Given the description of an element on the screen output the (x, y) to click on. 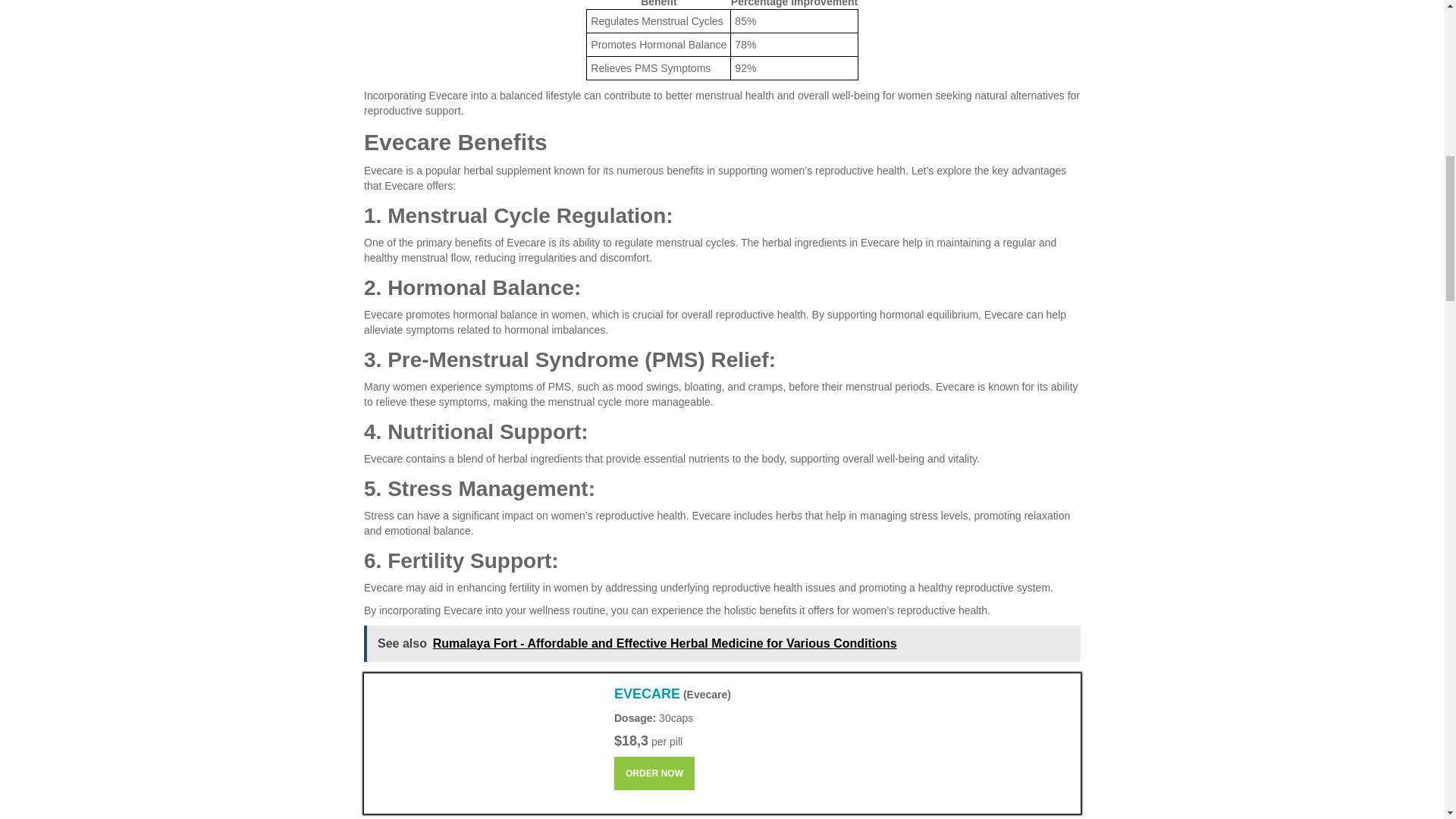
ORDER NOW (654, 773)
